Given the description of an element on the screen output the (x, y) to click on. 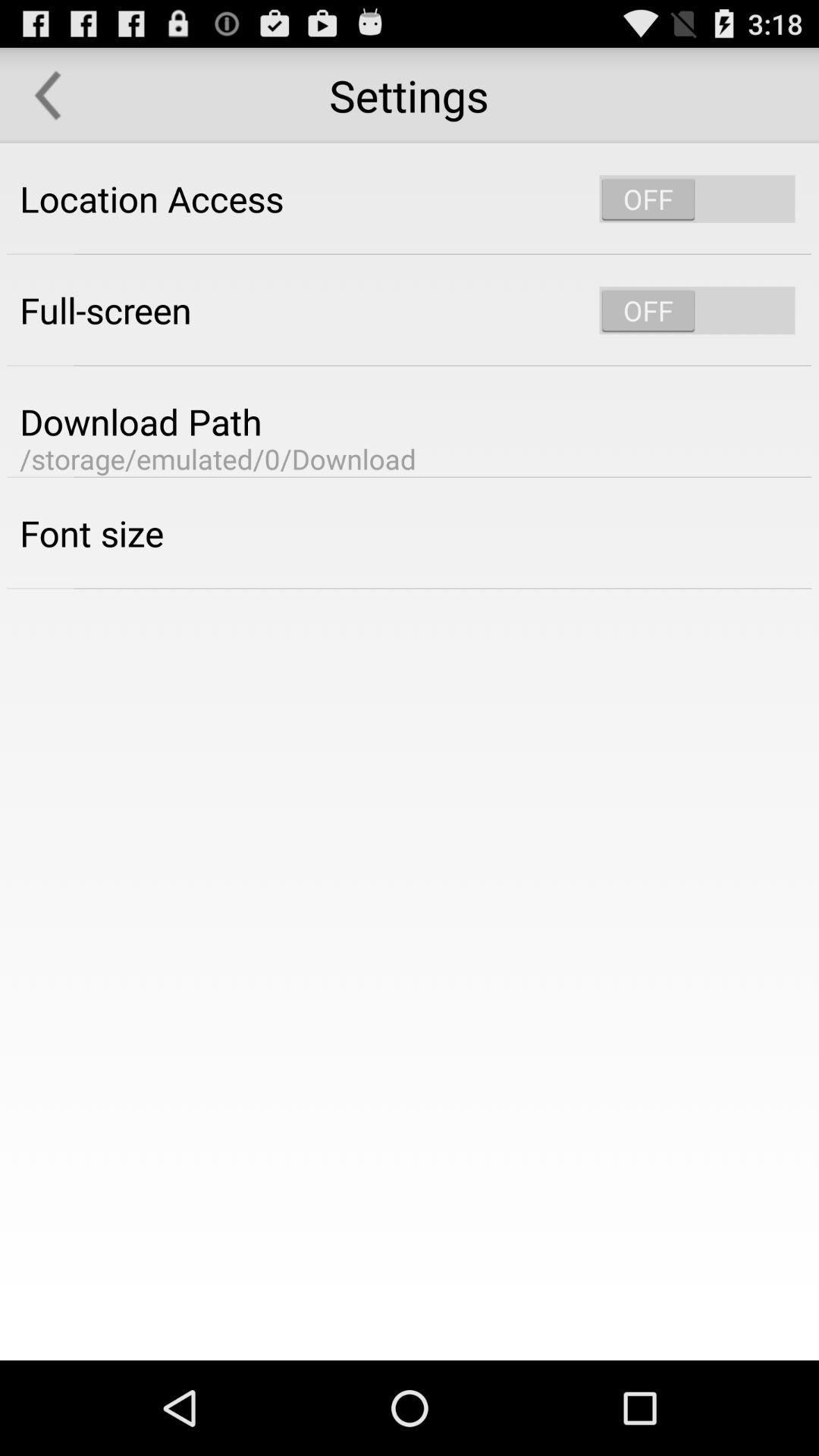
go back (47, 95)
